Given the description of an element on the screen output the (x, y) to click on. 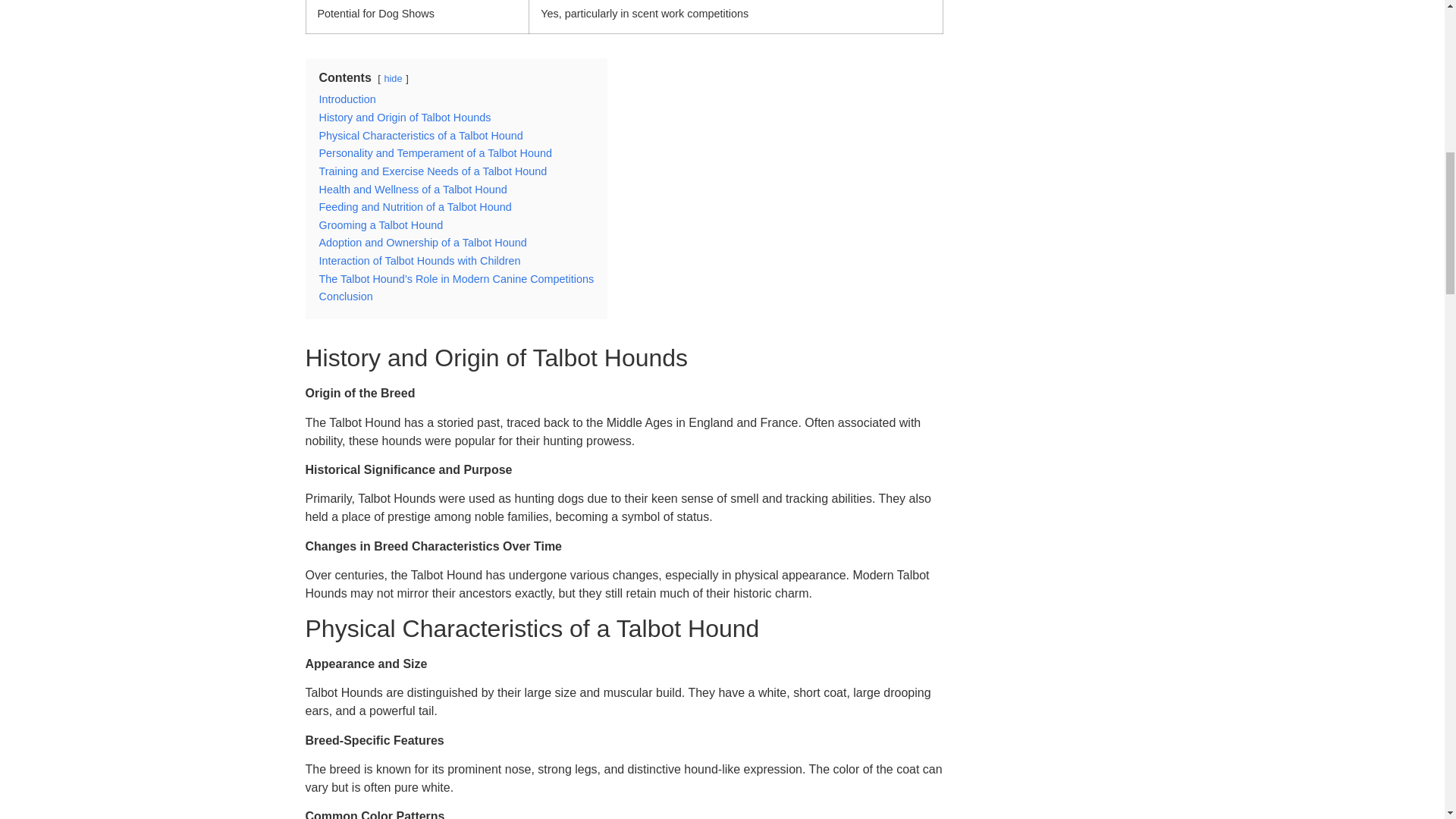
hide (392, 78)
Training and Exercise Needs of a Talbot Hound (432, 171)
Interaction of Talbot Hounds with Children (418, 260)
Feeding and Nutrition of a Talbot Hound (414, 206)
Conclusion (345, 296)
Adoption and Ownership of a Talbot Hound (421, 242)
Physical Characteristics of a Talbot Hound (420, 135)
Personality and Temperament of a Talbot Hound (434, 152)
Health and Wellness of a Talbot Hound (412, 189)
Introduction (346, 99)
